Given the description of an element on the screen output the (x, y) to click on. 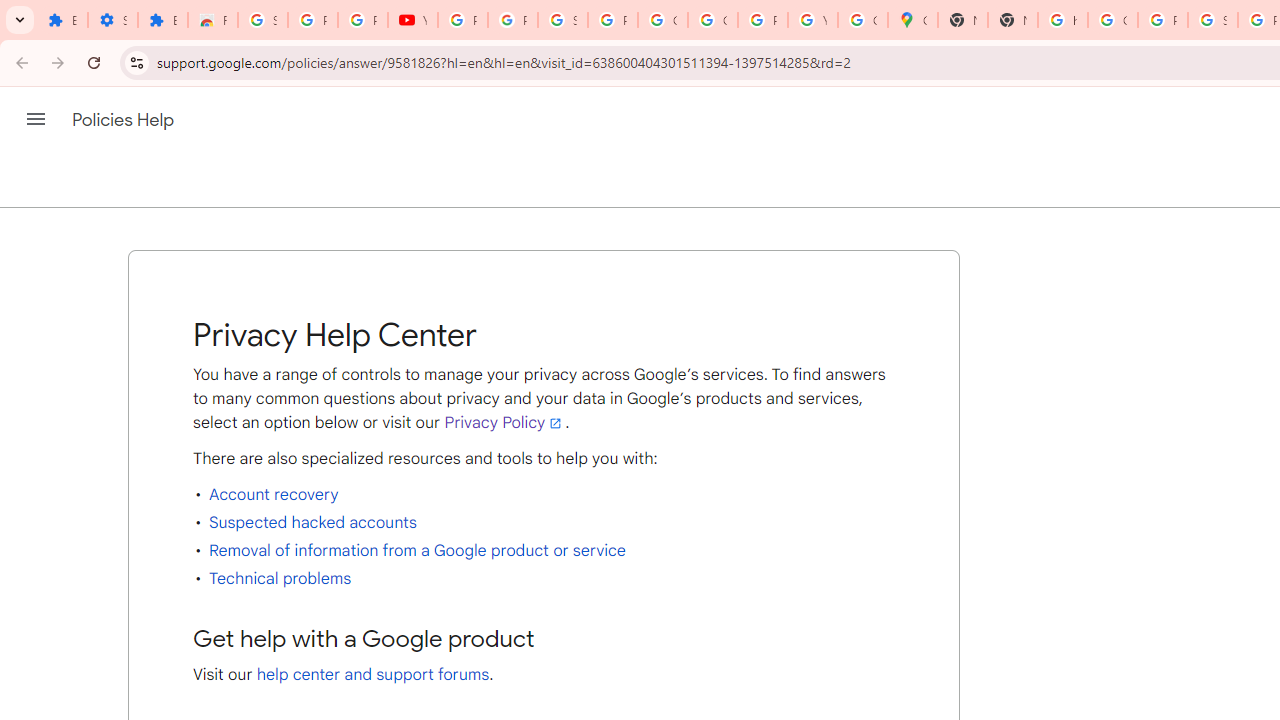
New Tab (963, 20)
New Tab (1013, 20)
Account recovery (273, 494)
Sign in - Google Accounts (562, 20)
